Given the description of an element on the screen output the (x, y) to click on. 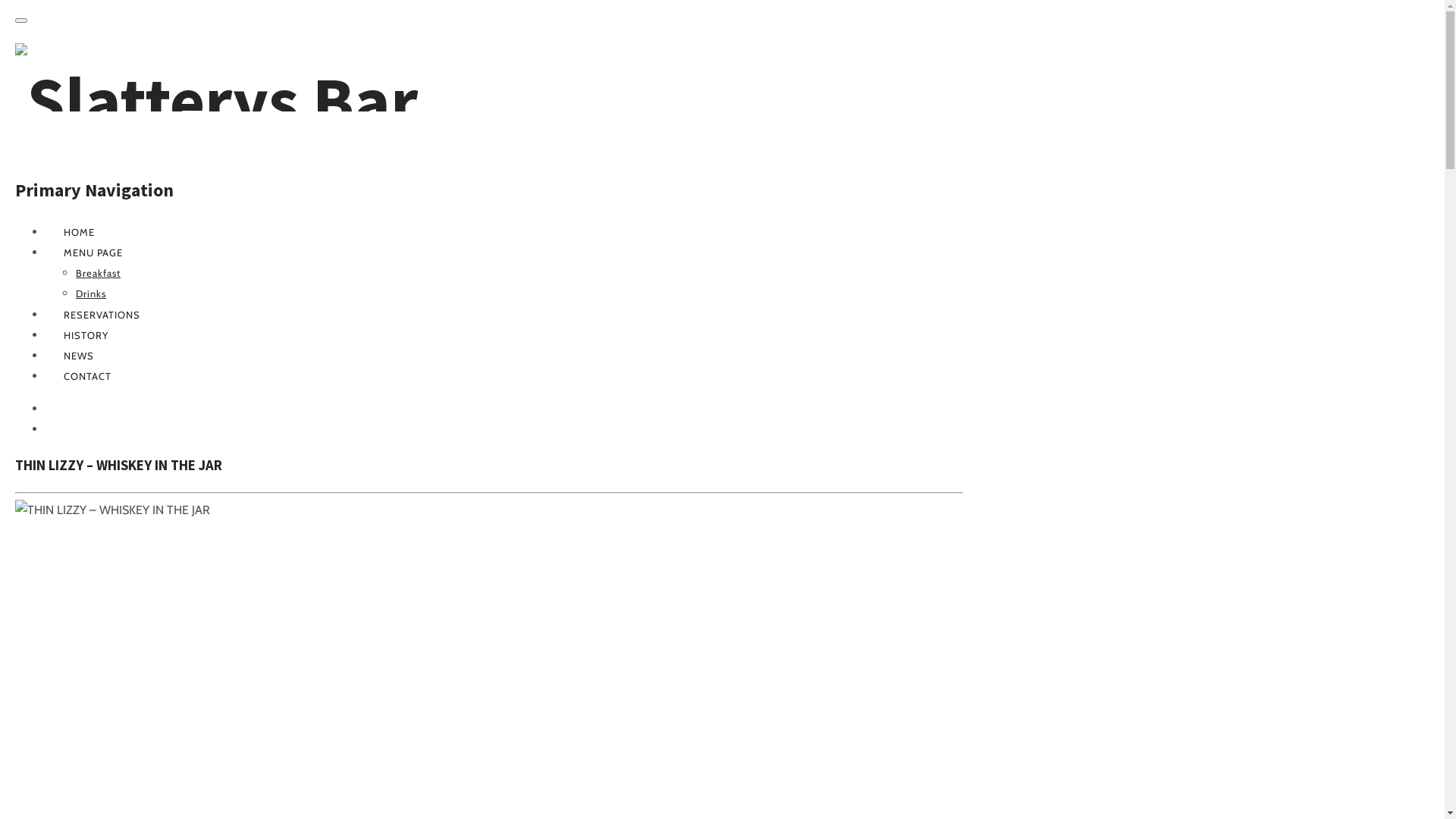
RESERVATIONS Element type: text (101, 314)
Breakfast Element type: text (97, 272)
MENU PAGE Element type: text (93, 252)
Drinks Element type: text (90, 293)
BINATE DIGITAL Element type: text (63, 408)
PRIVACY POLICY Element type: text (63, 429)
HOME Element type: text (78, 231)
Slatterys Bar Element type: hover (216, 100)
CONTACT Element type: text (87, 376)
NEWS Element type: text (78, 355)
HISTORY Element type: text (85, 335)
